Given the description of an element on the screen output the (x, y) to click on. 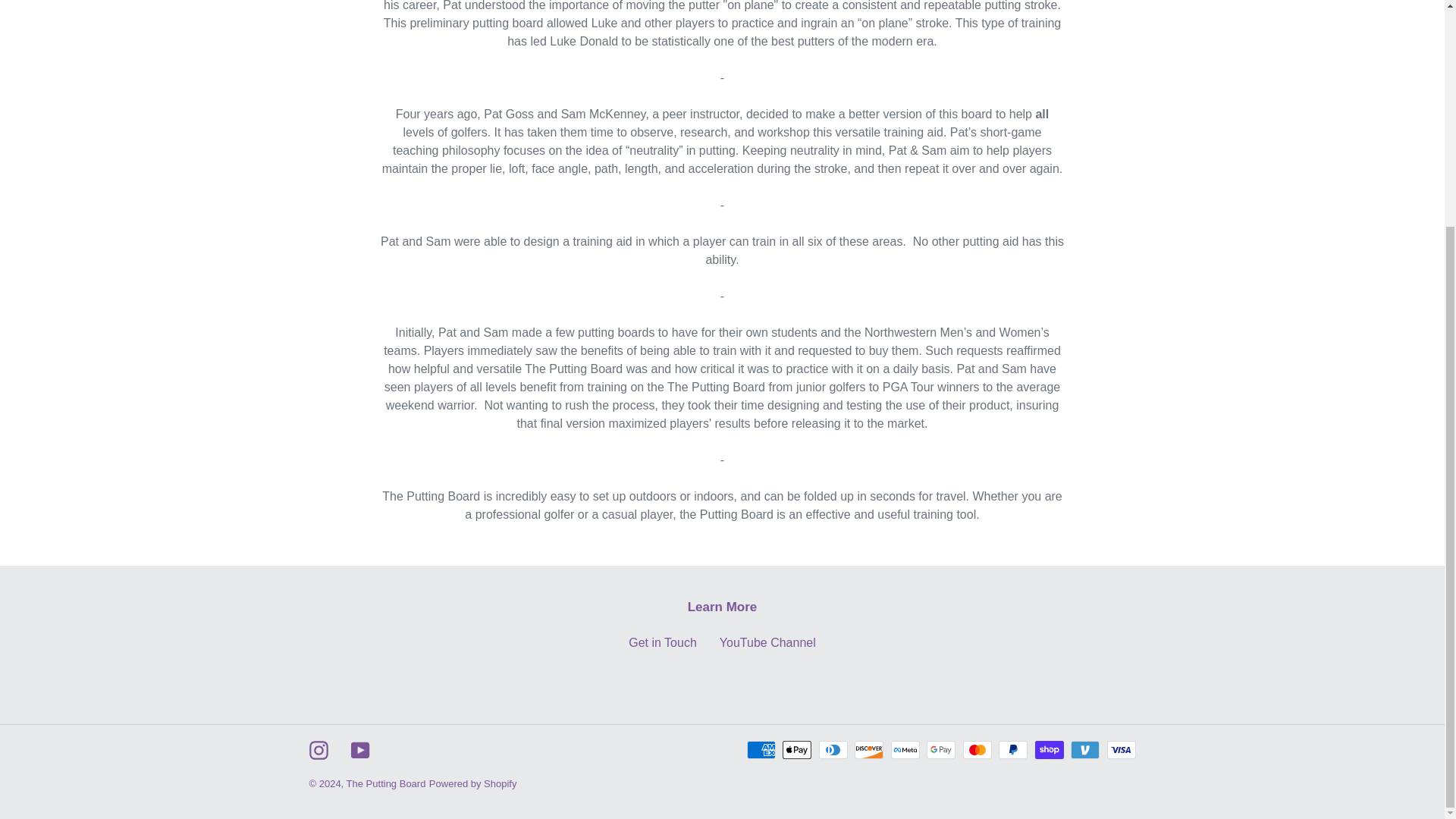
Powered by Shopify (472, 783)
Get in Touch (662, 642)
YouTube Channel (767, 642)
YouTube (359, 750)
Instagram (318, 750)
The Putting Board (386, 783)
